Given the description of an element on the screen output the (x, y) to click on. 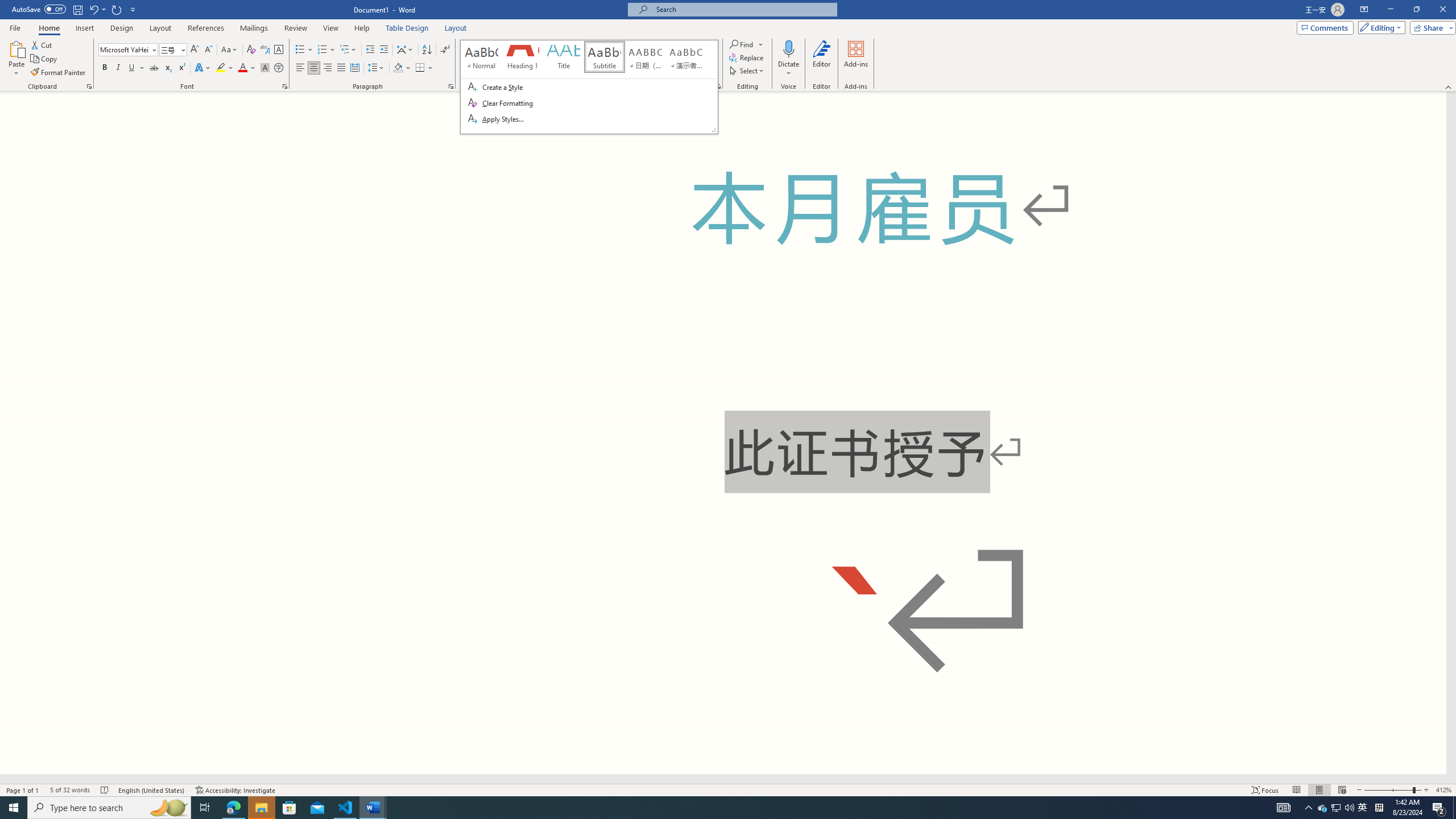
File Explorer - 1 running window (261, 807)
